Given the description of an element on the screen output the (x, y) to click on. 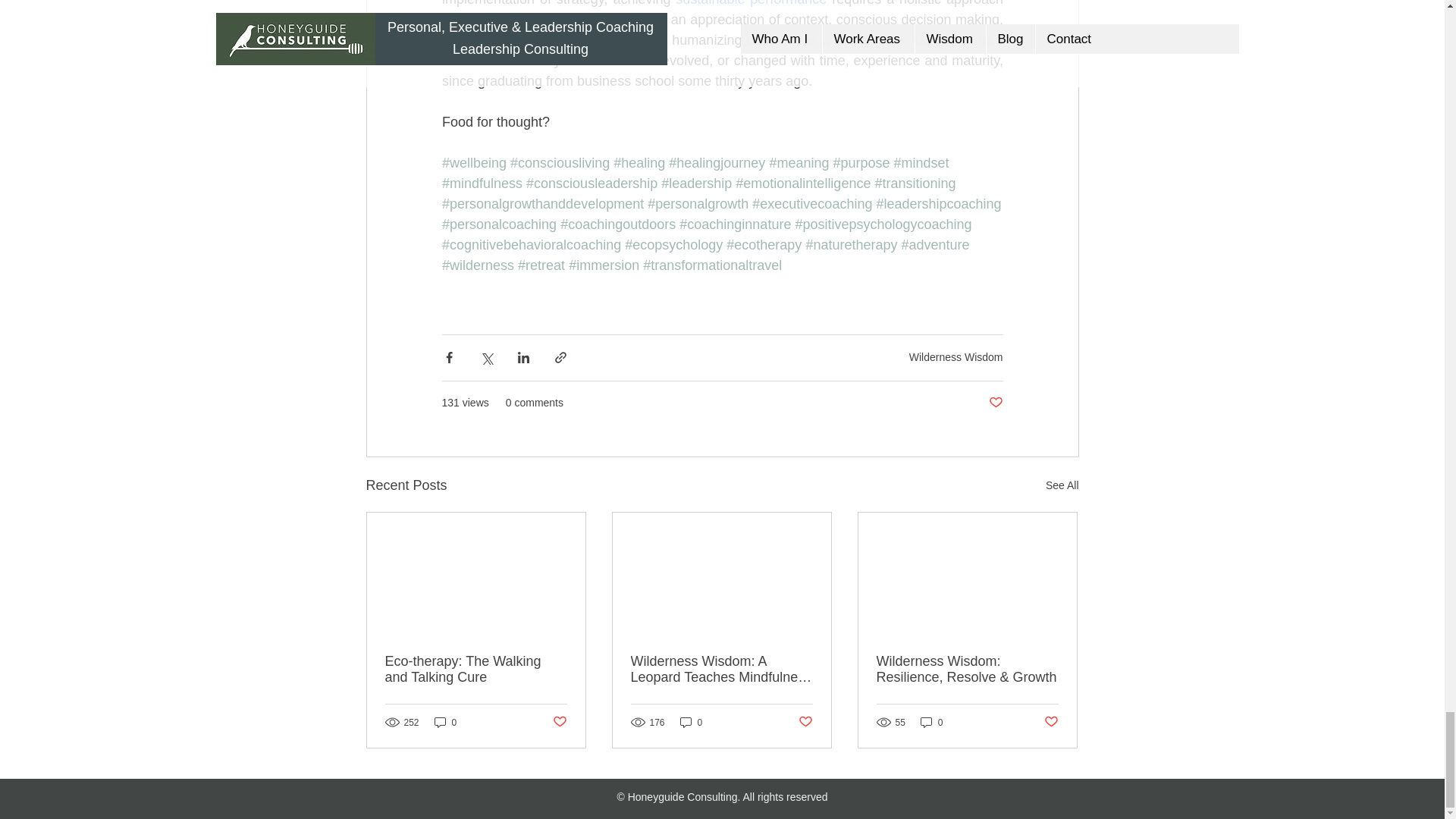
sustainable performance (751, 3)
